Given the description of an element on the screen output the (x, y) to click on. 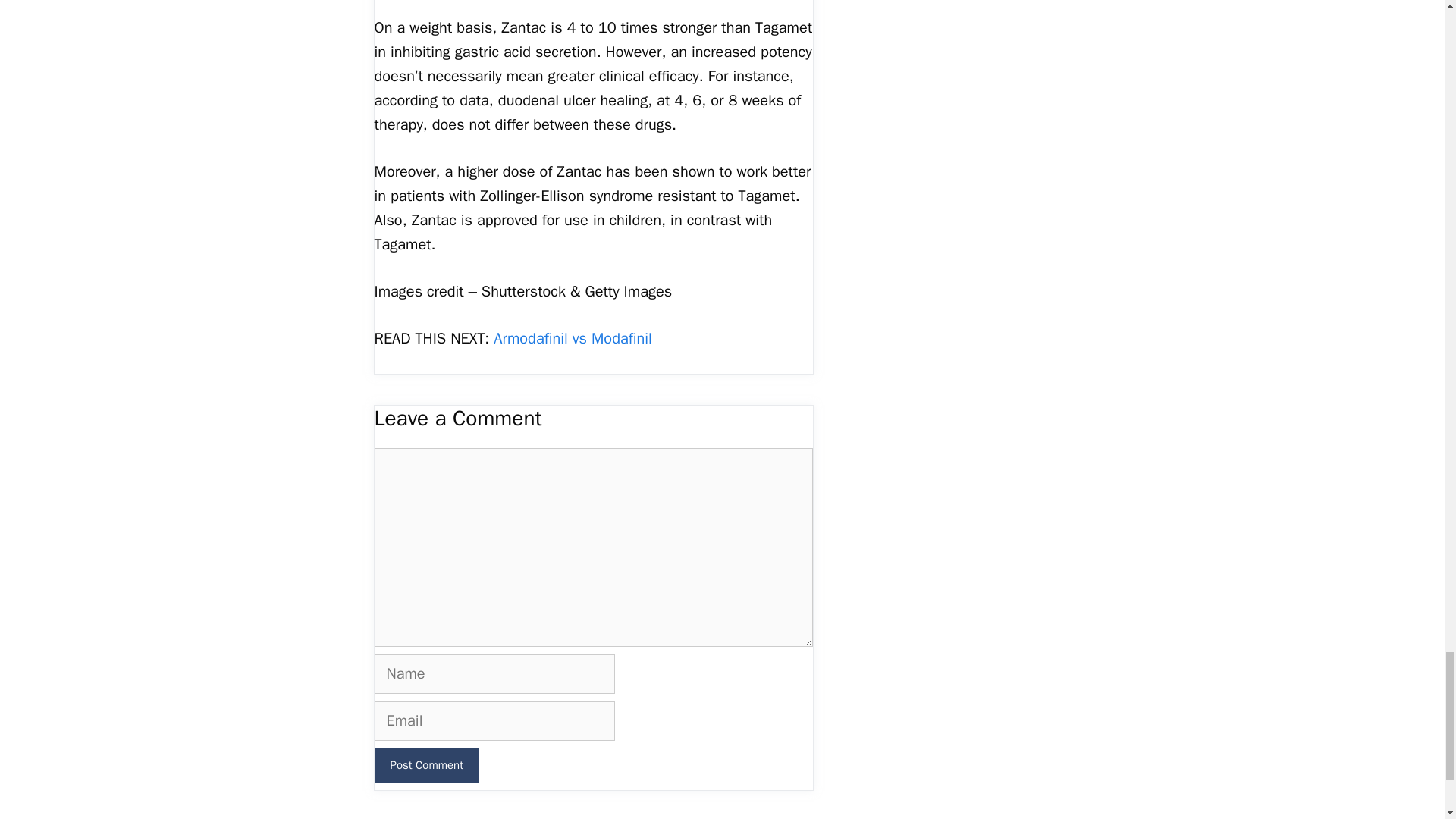
Post Comment (426, 765)
Armodafinil vs Modafinil (571, 338)
Post Comment (426, 765)
